Given the description of an element on the screen output the (x, y) to click on. 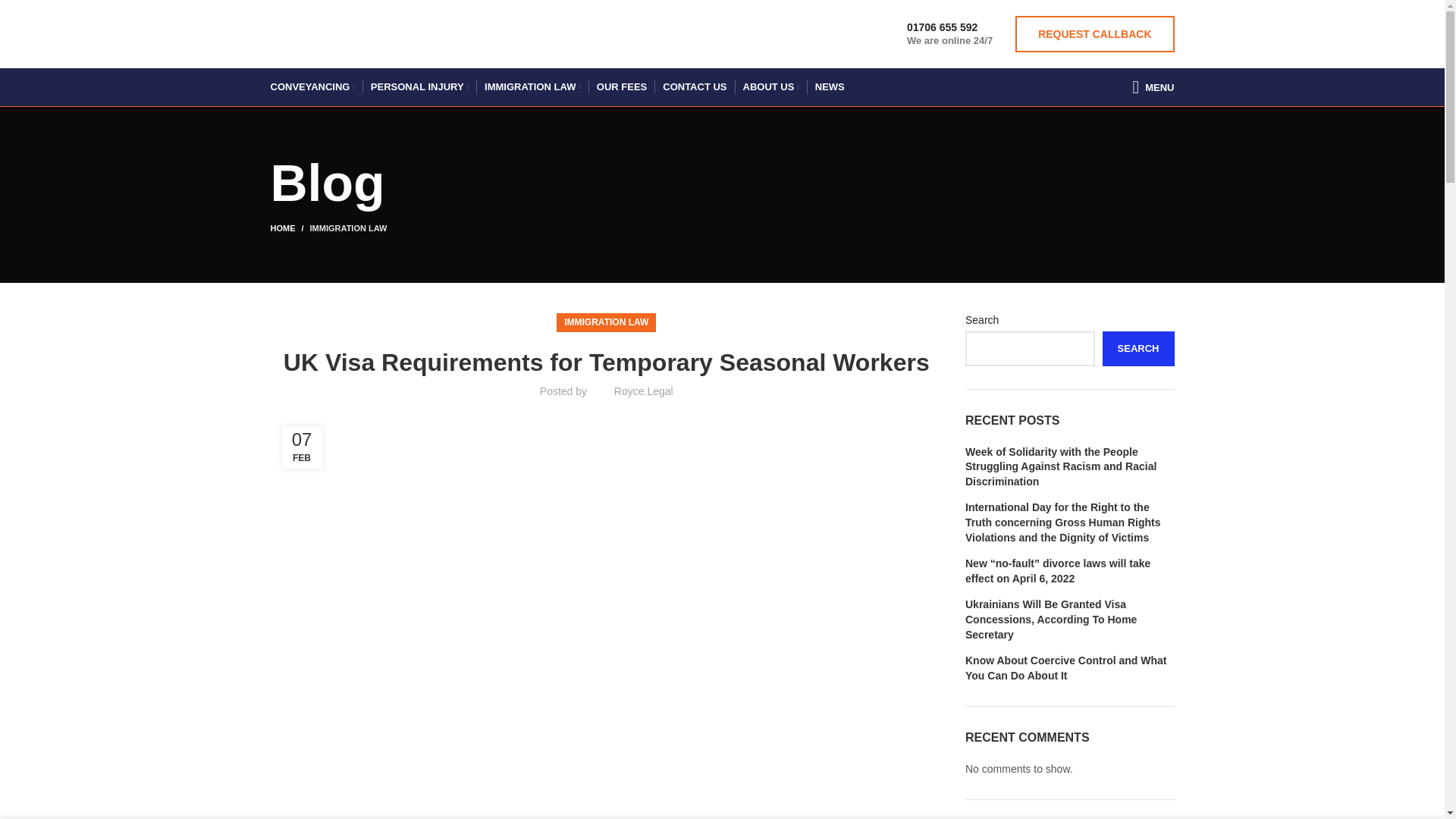
IMMIGRATION LAW (532, 87)
OUR FEES (621, 87)
CONVEYANCING (311, 87)
REQUEST CALLBACK (1093, 33)
CONTACT US (694, 87)
ABOUT US (770, 87)
PERSONAL INJURY (419, 87)
